Given the description of an element on the screen output the (x, y) to click on. 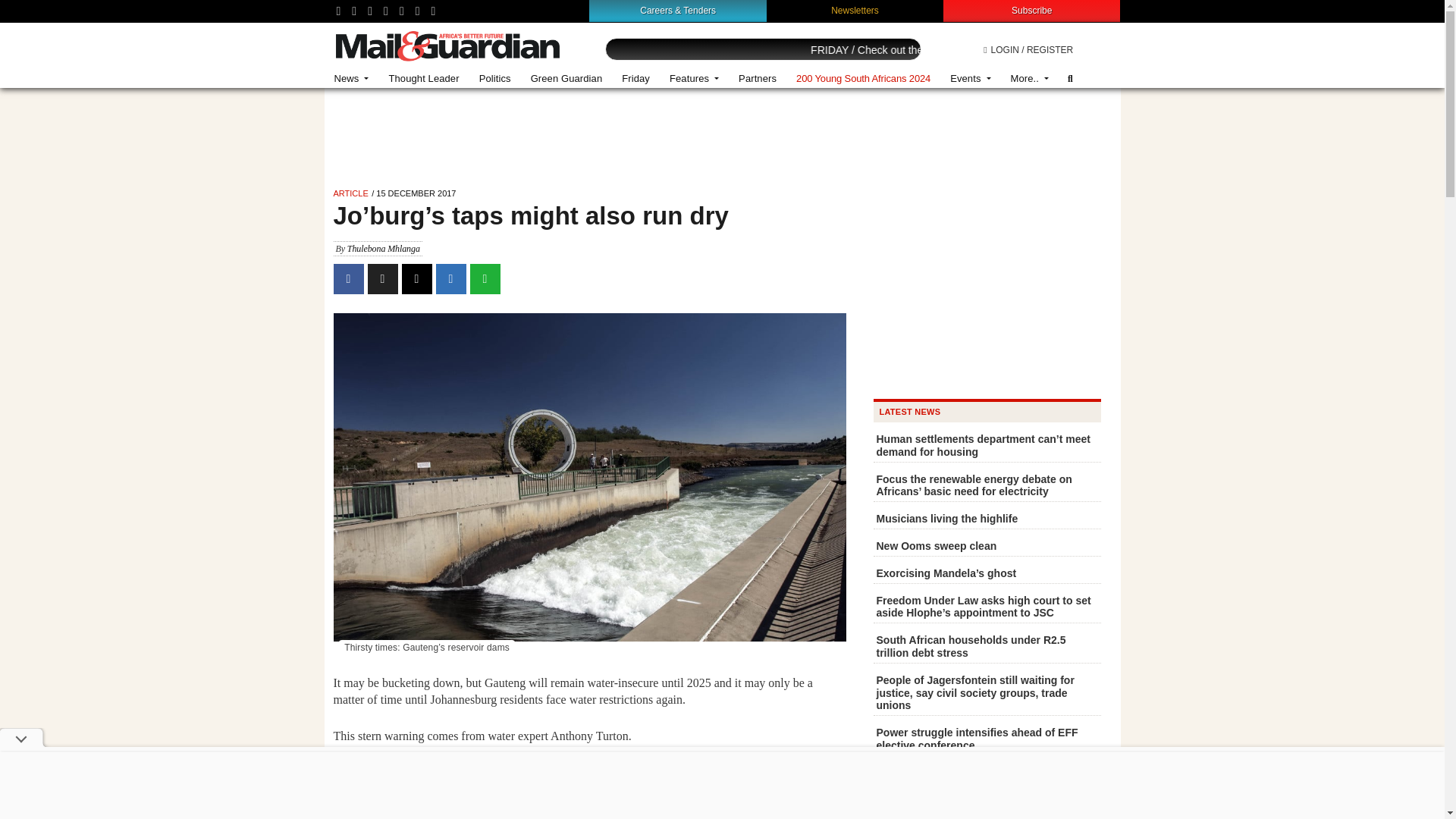
Features (694, 78)
Subscribe (1031, 9)
Green Guardian (566, 78)
Newsletters (855, 9)
Friday (635, 78)
Politics (494, 78)
News (351, 78)
News (351, 78)
Thought Leader (423, 78)
